Given the description of an element on the screen output the (x, y) to click on. 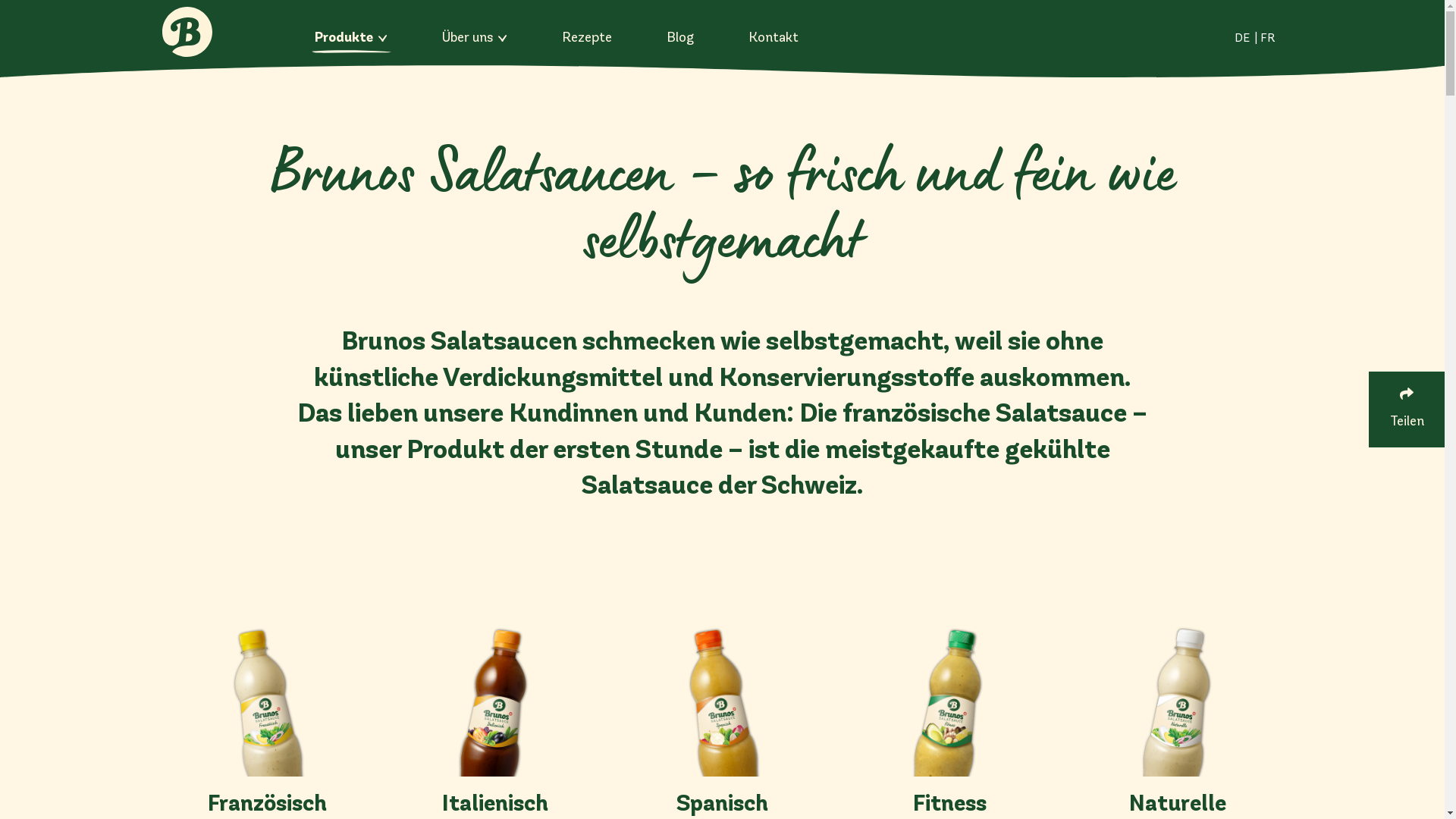
Kontakt Element type: text (772, 37)
Rezepte Element type: text (585, 37)
Blog Element type: text (679, 37)
Teilen Element type: text (1406, 409)
Produkte Element type: text (350, 37)
FR Element type: text (1267, 37)
DE Element type: text (1241, 37)
